Given the description of an element on the screen output the (x, y) to click on. 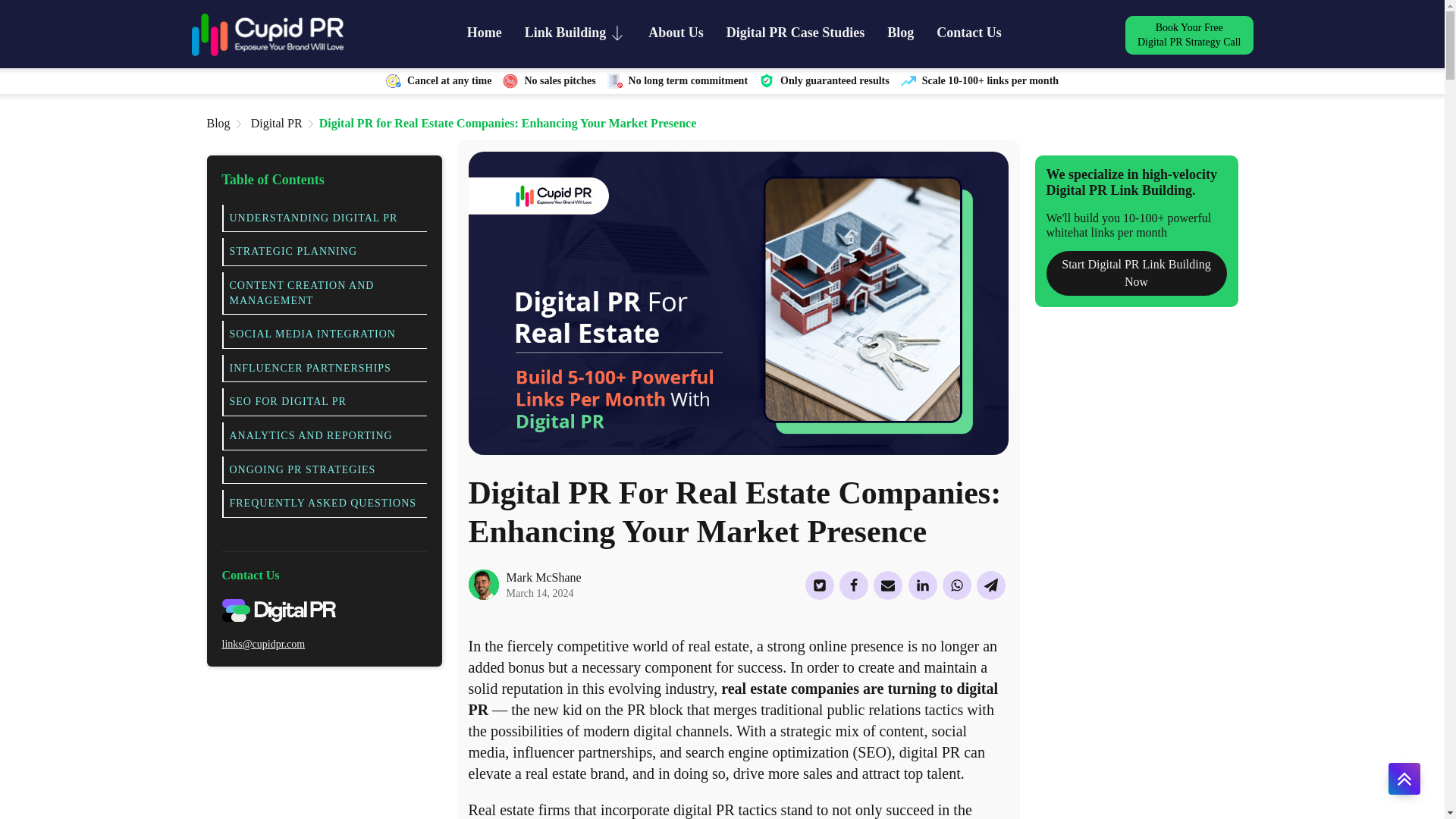
Link Building (575, 34)
Digital PR Case Studies (795, 34)
About Us (1189, 34)
Home (675, 34)
Blog (484, 34)
Digital PR (900, 34)
Contact Us (276, 123)
Blog (968, 34)
